Given the description of an element on the screen output the (x, y) to click on. 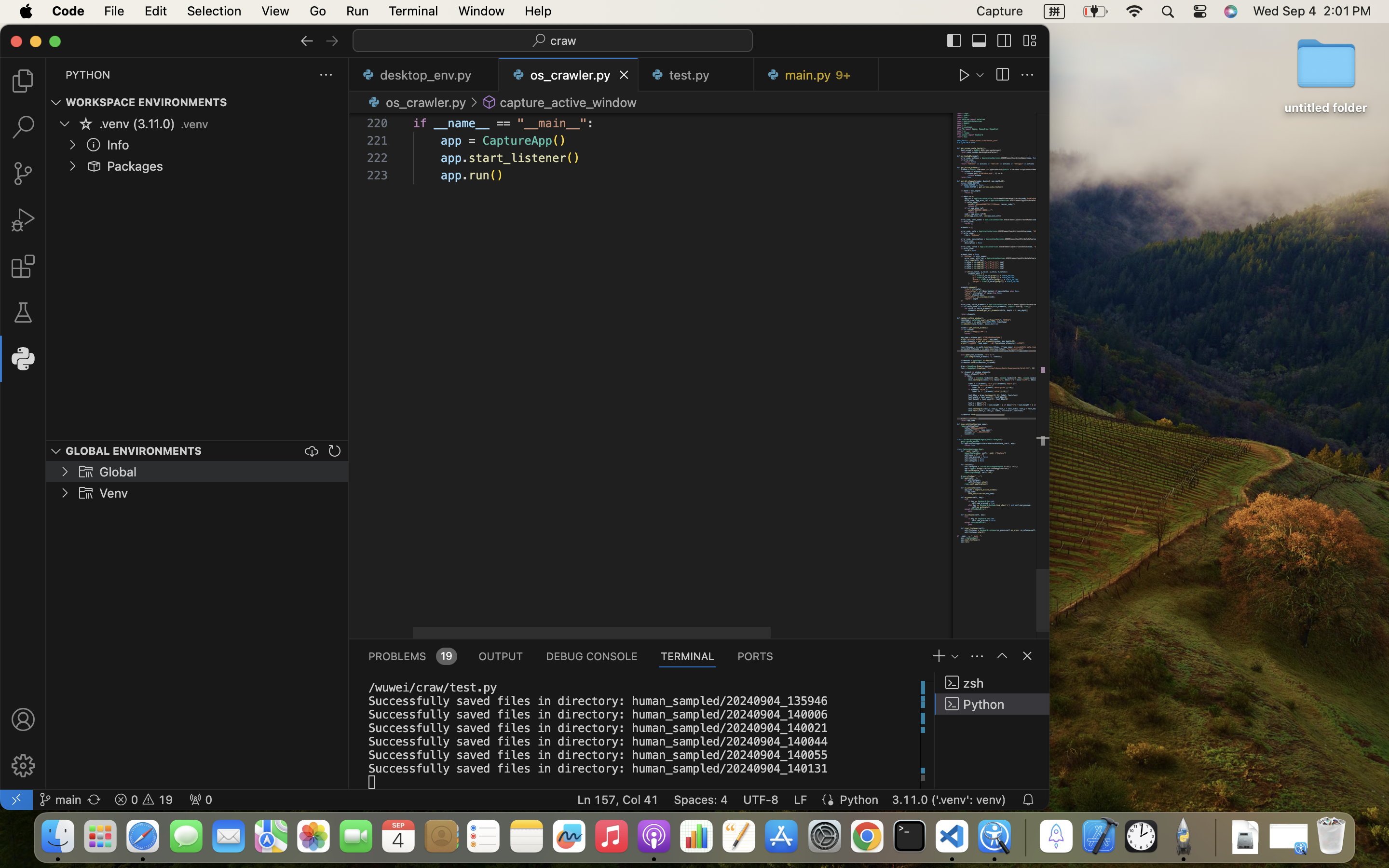
0  Element type: AXRadioButton (23, 173)
 Element type: AXCheckBox (953, 40)
 Element type: AXGroup (23, 312)
 Element type: AXStaticText (55, 451)
0 test.py   Element type: AXRadioButton (696, 74)
